Given the description of an element on the screen output the (x, y) to click on. 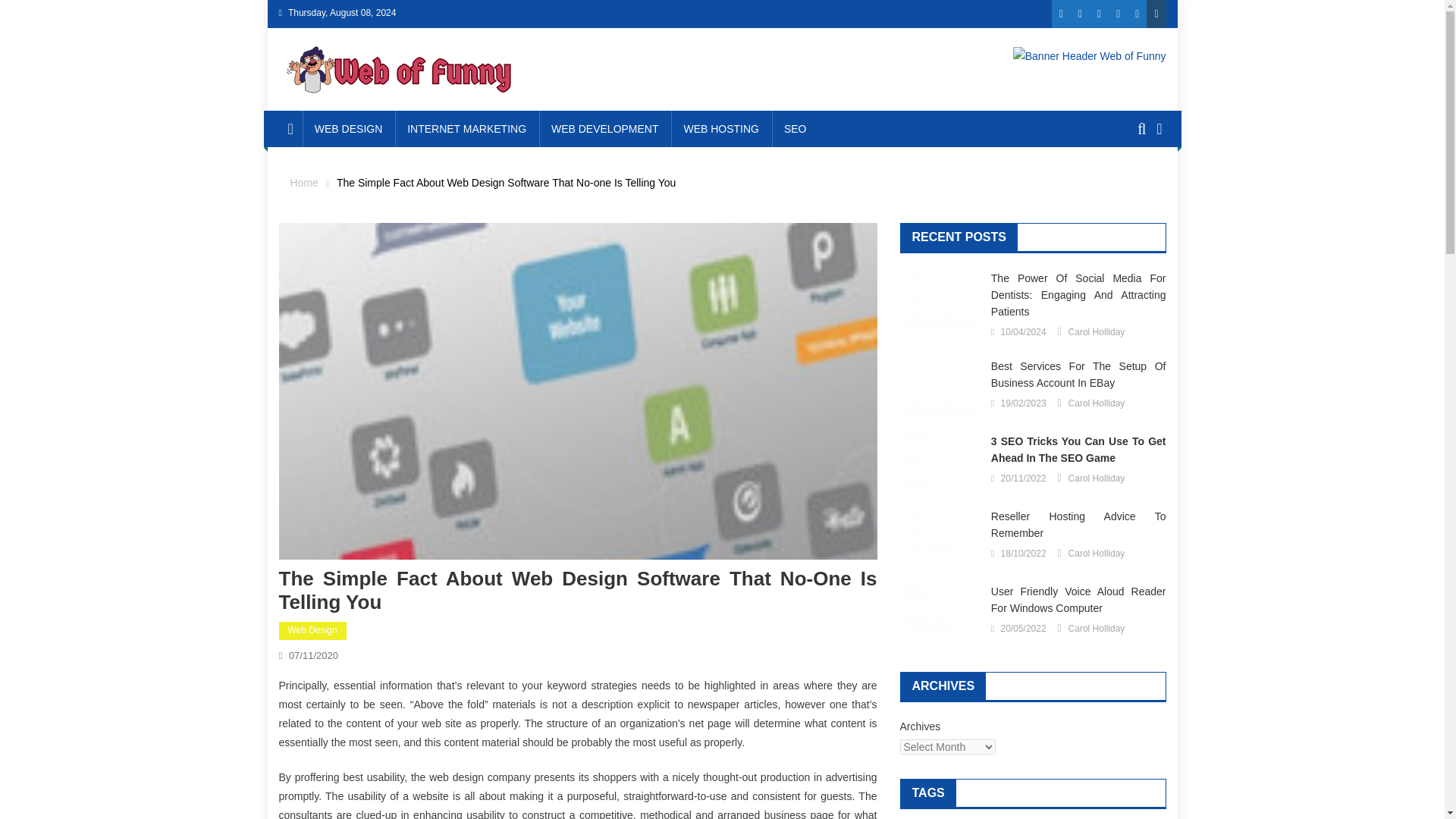
Home (303, 182)
User Friendly Voice Aloud Reader for Windows Computer (938, 611)
SEO (794, 128)
INTERNET MARKETING (466, 128)
WEB DESIGN (348, 128)
Search (1133, 184)
WEB DEVELOPMENT (604, 128)
Best Services for the Setup of Business Account in eBay (938, 386)
Web Design (312, 630)
